Given the description of an element on the screen output the (x, y) to click on. 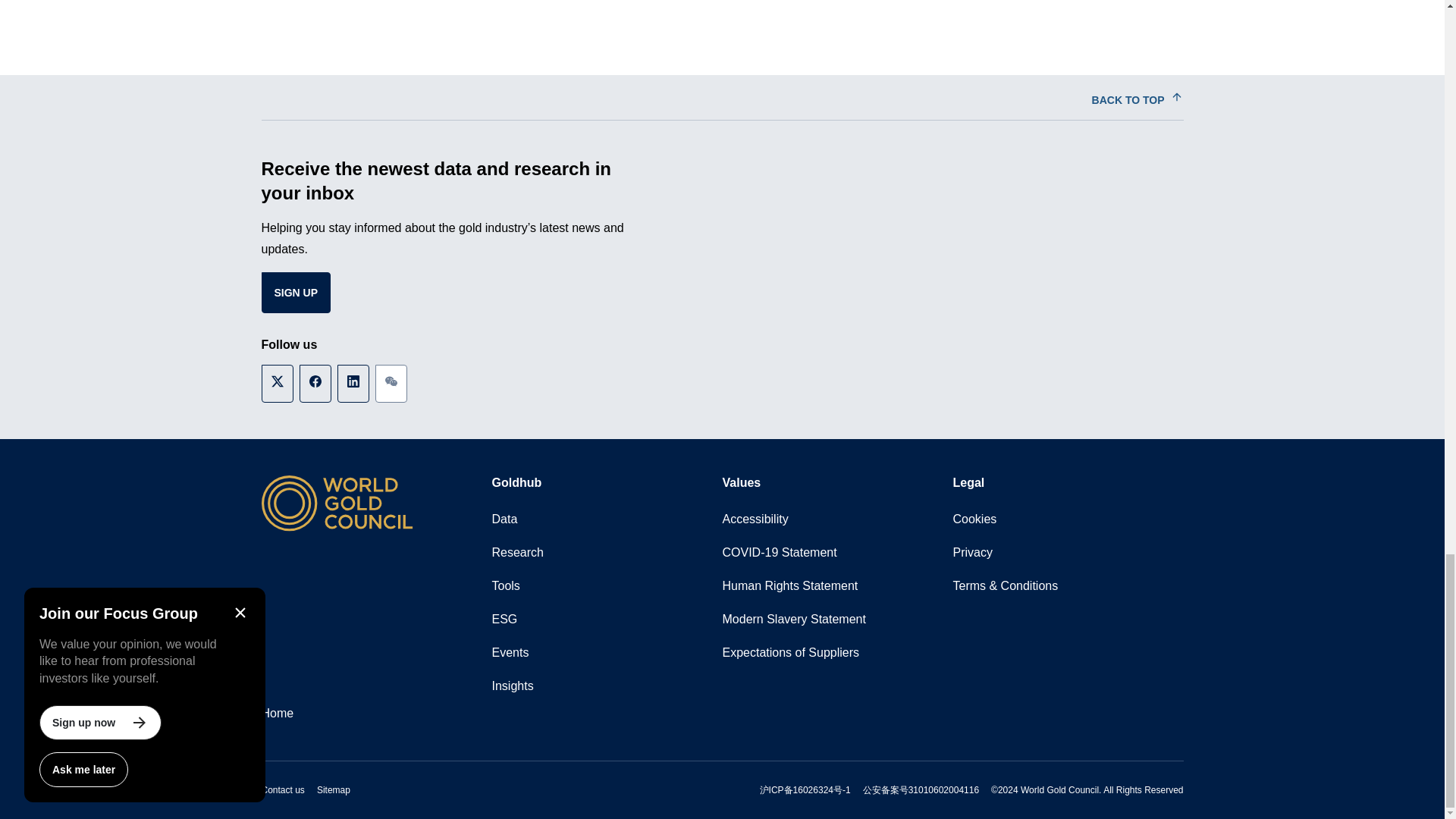
Events (607, 652)
Accessibility (837, 519)
Modern slavery statement (837, 619)
Social commentary about gold (607, 685)
ESG (607, 619)
Cookies (1067, 519)
